Given the description of an element on the screen output the (x, y) to click on. 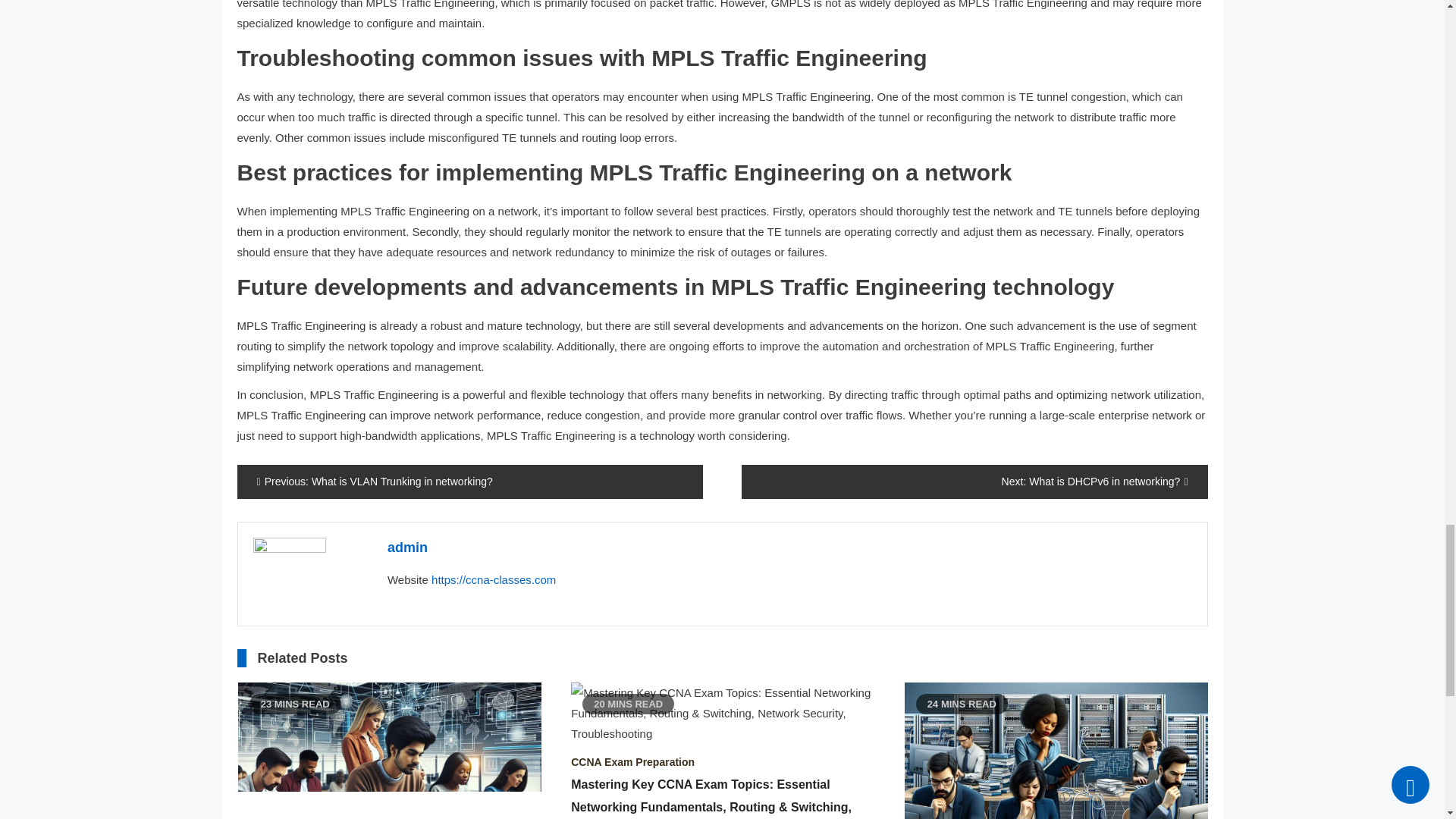
admin (407, 547)
Posts by admin (407, 547)
Next: What is DHCPv6 in networking? (974, 481)
CCNA Exam Preparation (632, 761)
Previous: What is VLAN Trunking in networking? (468, 481)
